Given the description of an element on the screen output the (x, y) to click on. 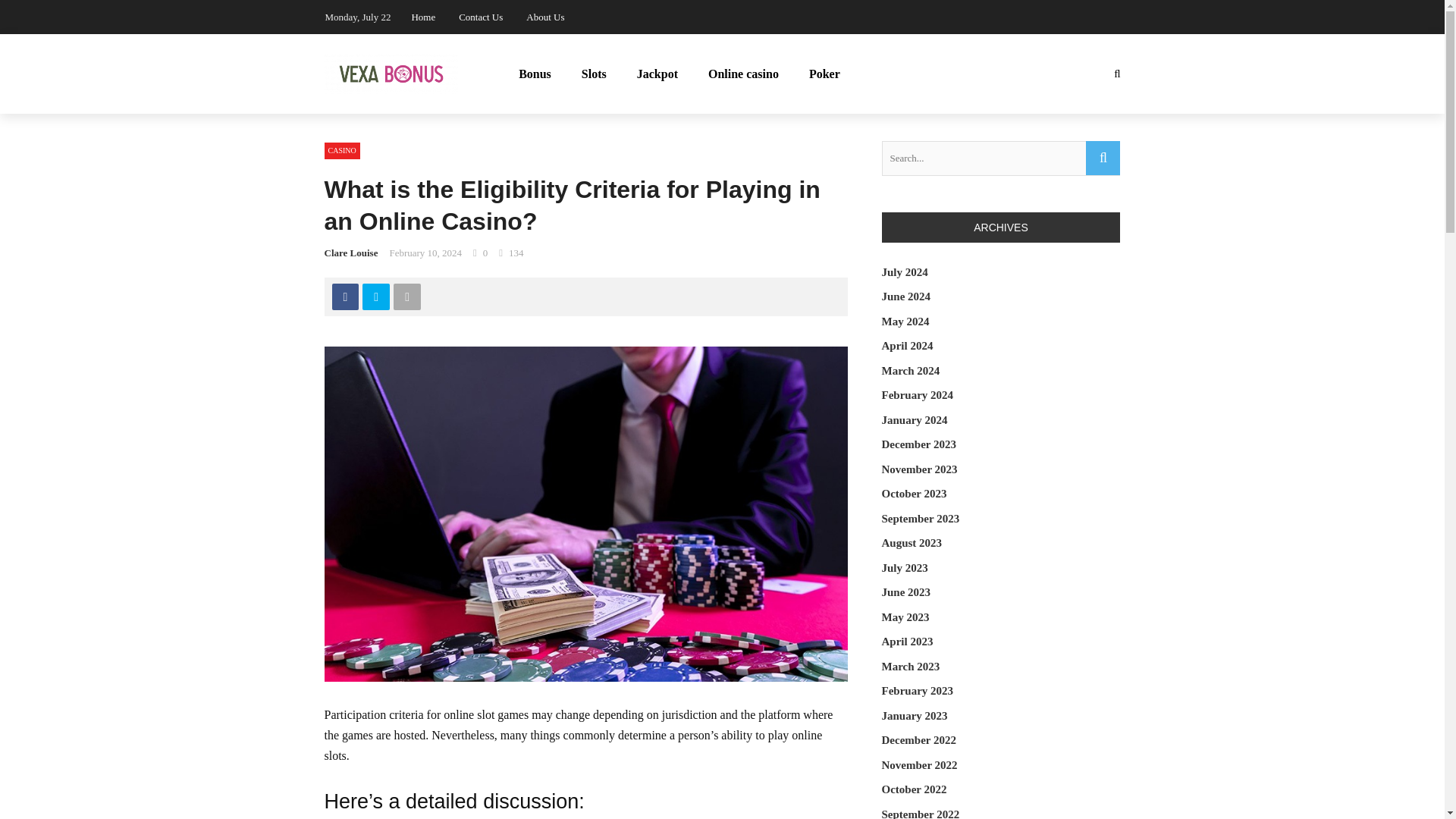
Online casino (743, 73)
Home (422, 16)
CASINO (341, 150)
Clare Louise (351, 252)
Jackpot (657, 73)
Contact Us (480, 16)
About Us (544, 16)
